Given the description of an element on the screen output the (x, y) to click on. 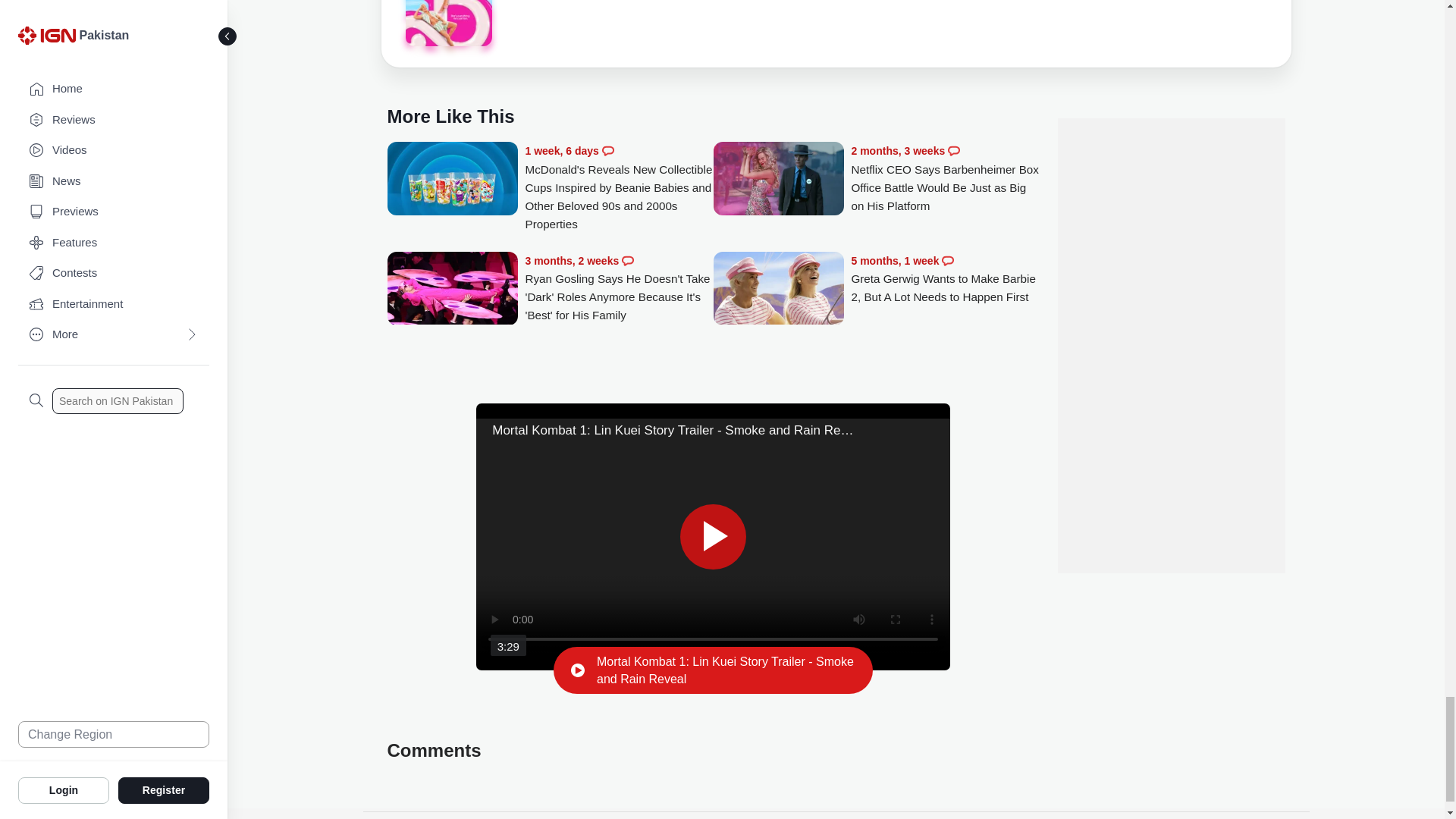
Barbie (448, 22)
Comments (608, 150)
Barbie (448, 25)
Comments (953, 150)
Comments (627, 260)
